Given the description of an element on the screen output the (x, y) to click on. 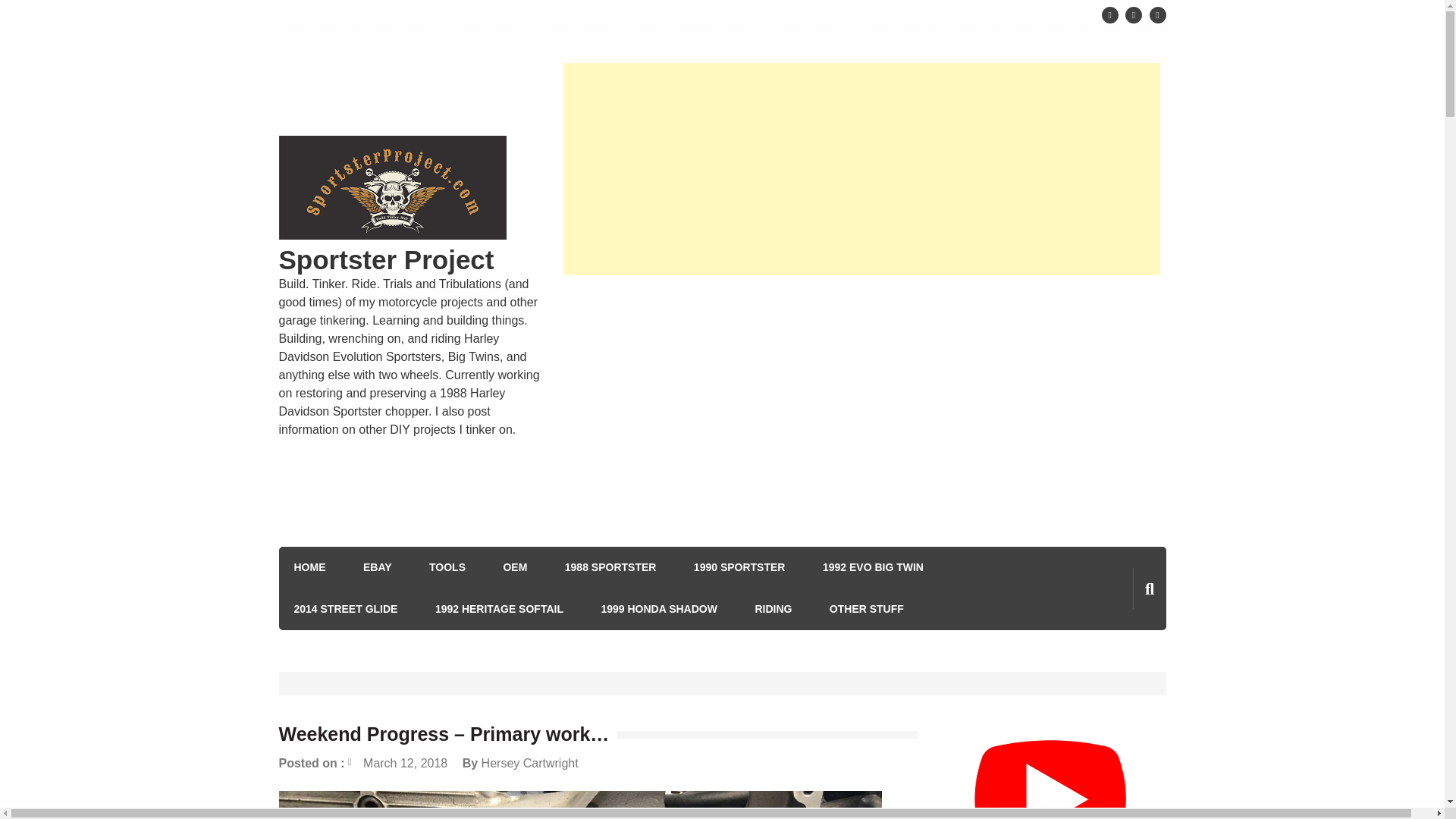
HOME (310, 567)
1992 HERITAGE SOFTAIL (499, 608)
OEM (514, 567)
1990 SPORTSTER (740, 567)
RIDING (773, 608)
TOOLS (447, 567)
2014 STREET GLIDE (345, 608)
1999 HONDA SHADOW (658, 608)
1992 EVO BIG TWIN (872, 567)
Advertisement (861, 399)
EBAY (376, 567)
Posts by Hersey Cartwright (529, 762)
Sportster Project (387, 259)
OTHER STUFF (866, 608)
1988 SPORTSTER (610, 567)
